Given the description of an element on the screen output the (x, y) to click on. 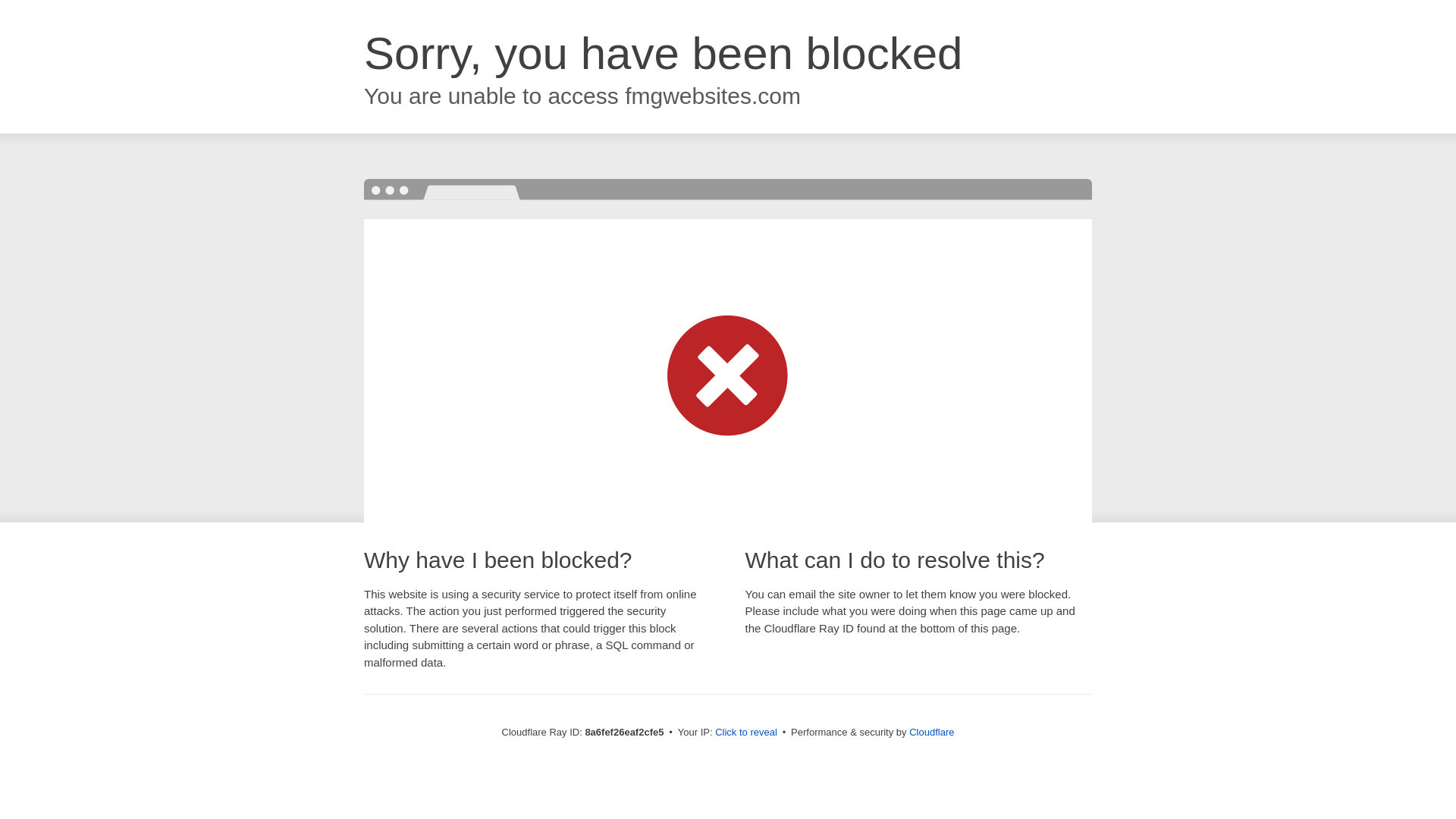
Cloudflare (930, 731)
Click to reveal (745, 732)
